Given the description of an element on the screen output the (x, y) to click on. 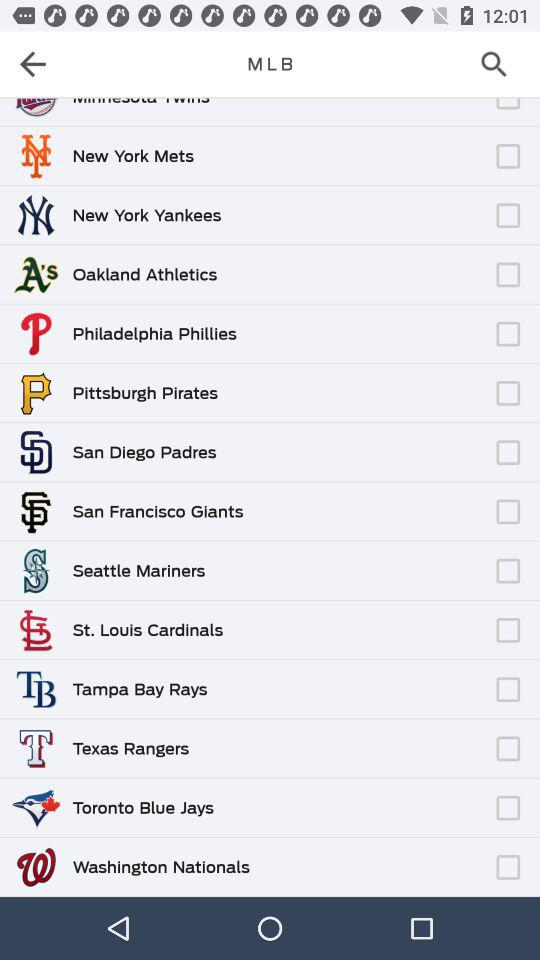
search the page (500, 64)
